Given the description of an element on the screen output the (x, y) to click on. 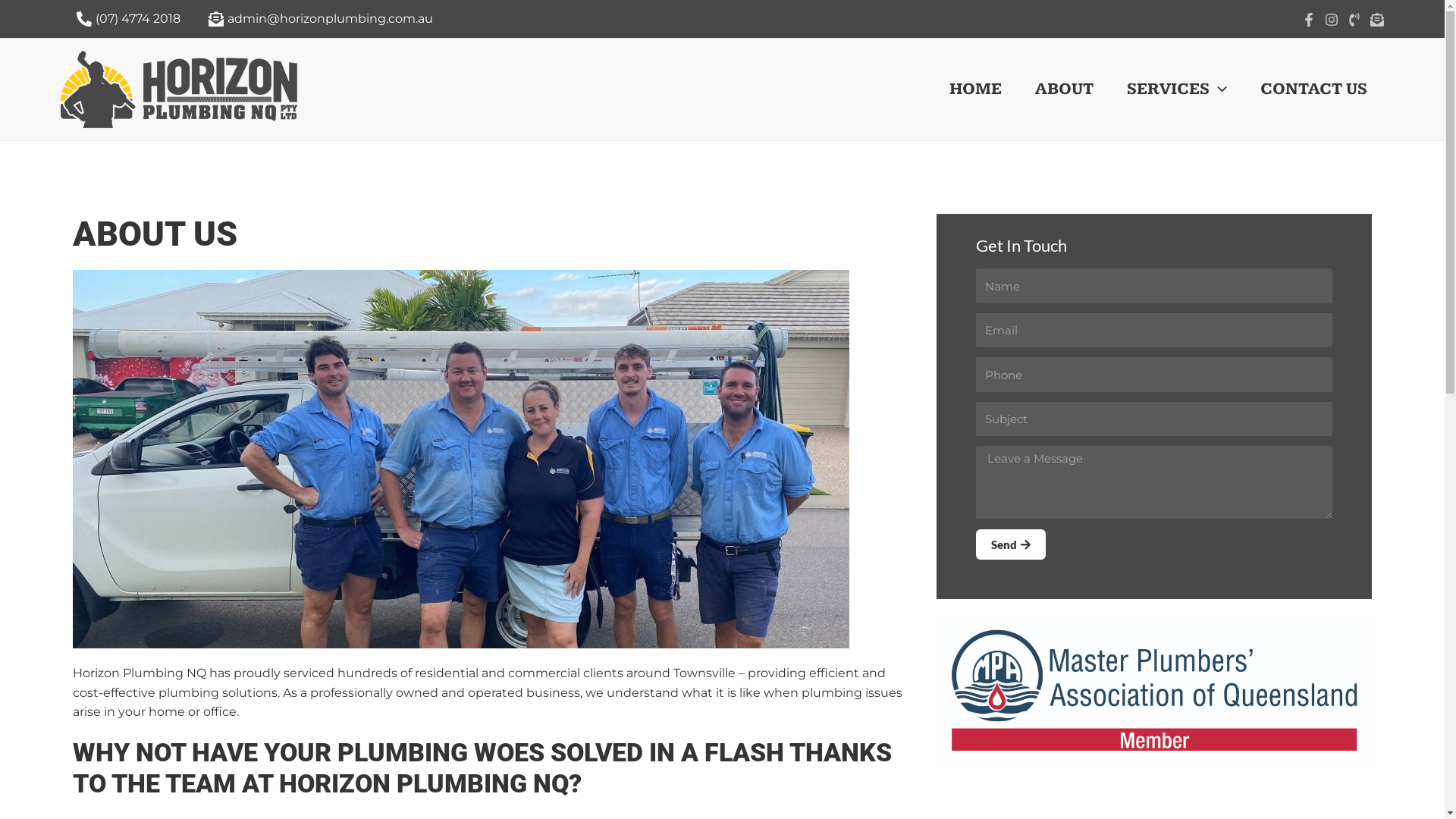
(07) 4774 2018 Element type: text (126, 18)
ABOUT Element type: text (1064, 89)
CONTACT US Element type: text (1313, 89)
SERVICES Element type: text (1176, 89)
HOME Element type: text (975, 89)
Send Element type: text (1010, 544)
admin@horizonplumbing.com.au Element type: text (318, 18)
